Given the description of an element on the screen output the (x, y) to click on. 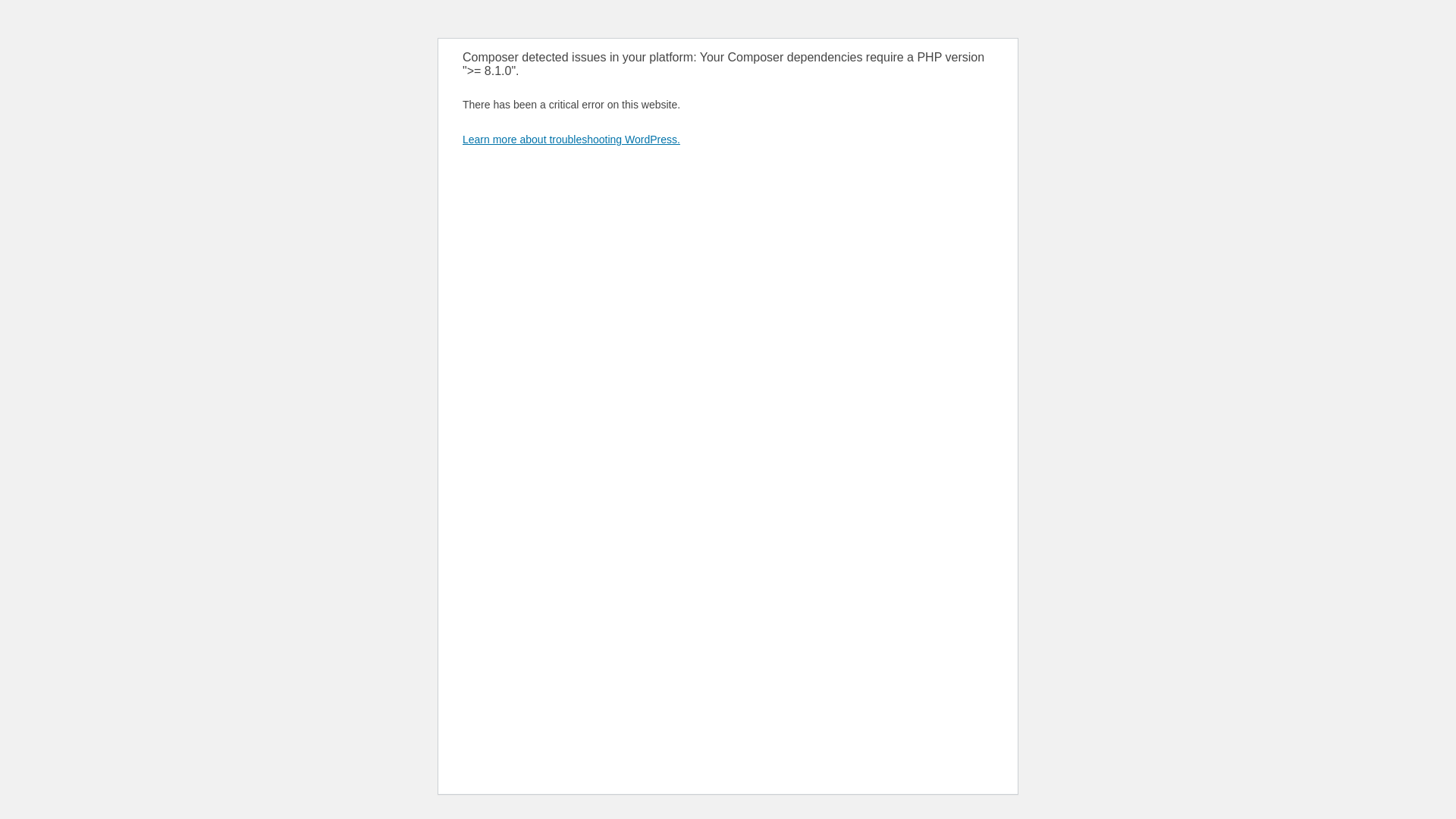
Learn more about troubleshooting WordPress. Element type: text (571, 139)
